Given the description of an element on the screen output the (x, y) to click on. 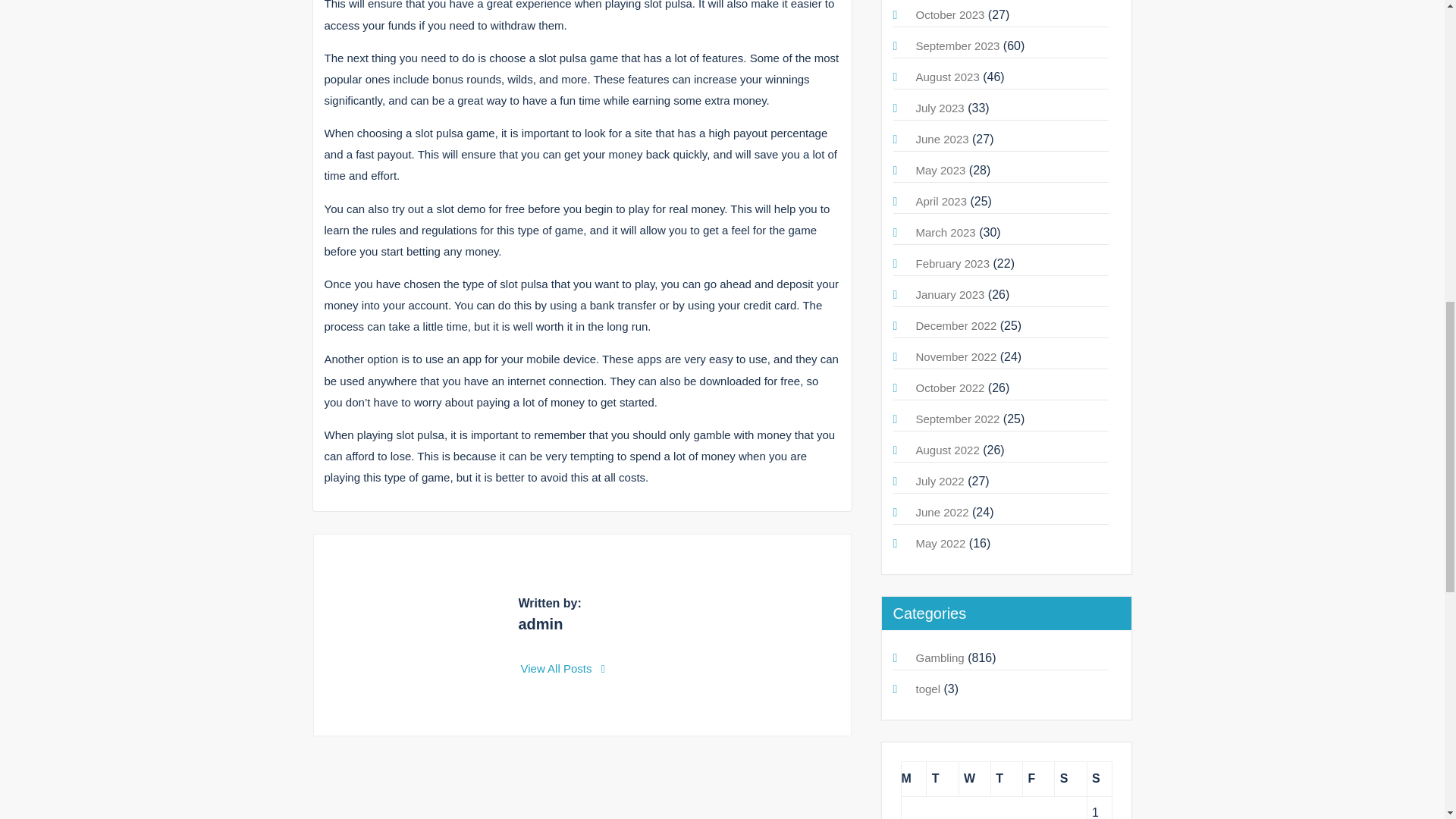
November 2022 (956, 356)
Thursday (1006, 779)
Tuesday (942, 779)
Saturday (1070, 779)
June 2022 (942, 512)
April 2023 (941, 201)
March 2023 (945, 232)
May 2022 (940, 543)
July 2022 (939, 481)
Friday (1038, 779)
